Given the description of an element on the screen output the (x, y) to click on. 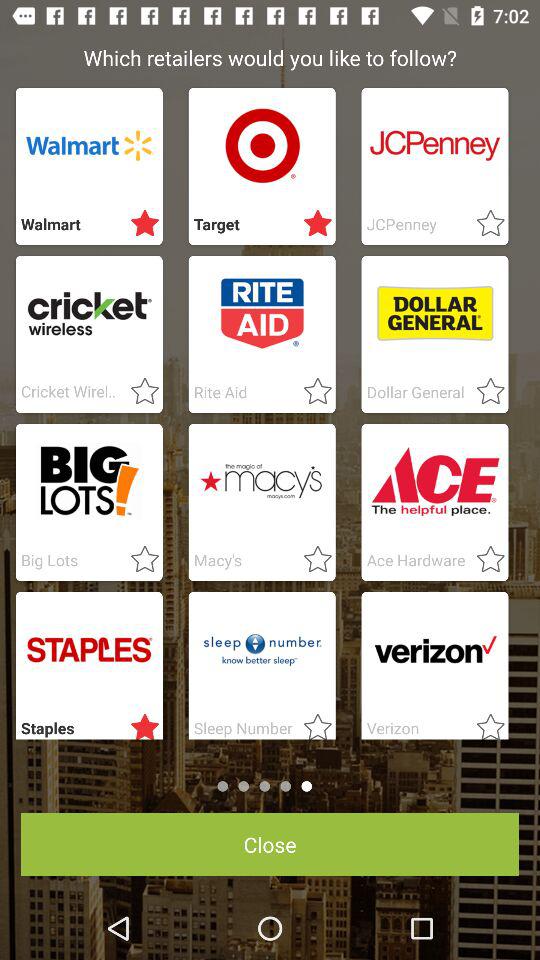
starred (312, 392)
